Given the description of an element on the screen output the (x, y) to click on. 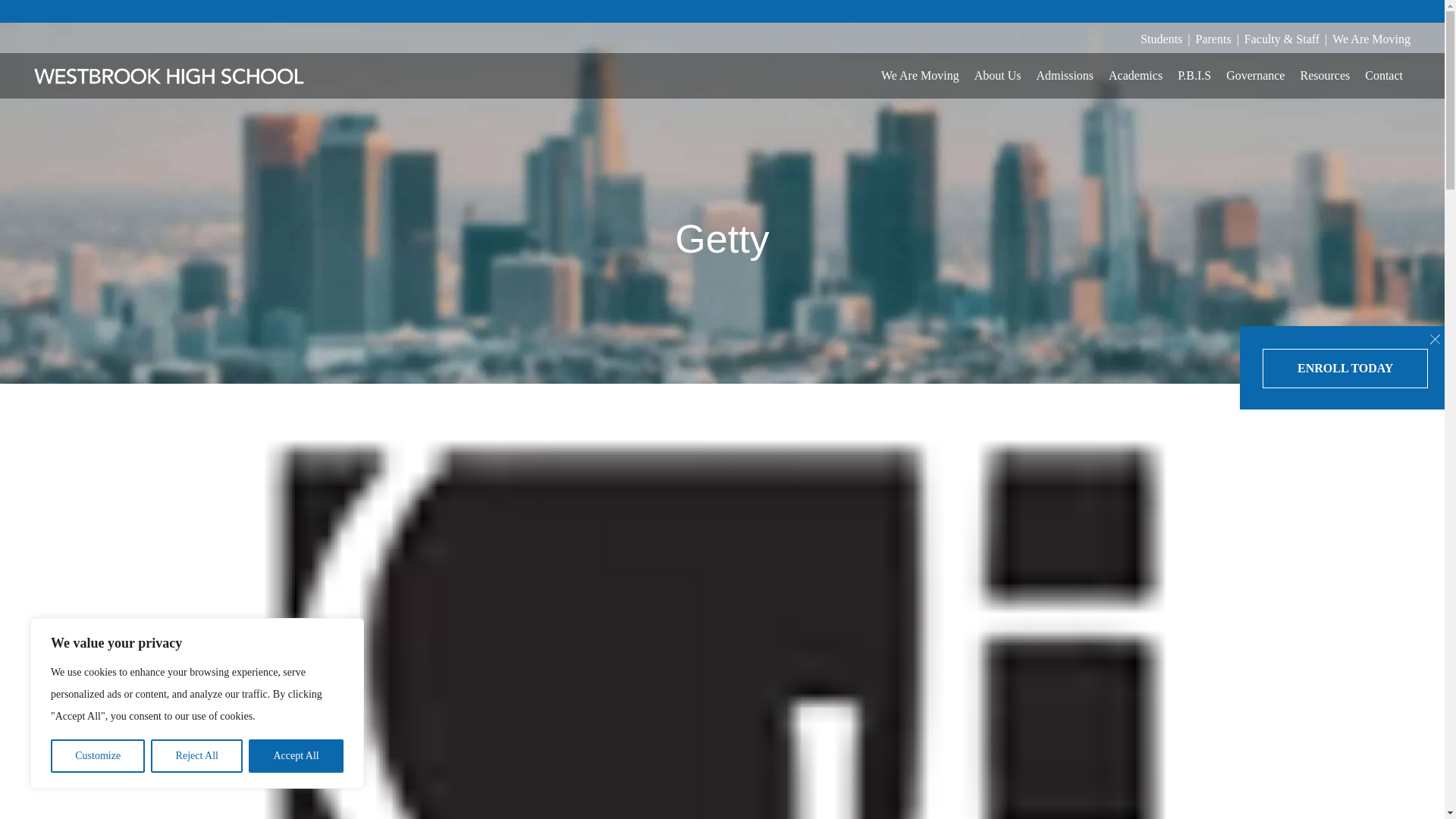
Students (1161, 38)
Accept All (295, 756)
Parents (1213, 38)
Reject All (197, 756)
Customize (97, 756)
We Are Moving (1371, 38)
